Given the description of an element on the screen output the (x, y) to click on. 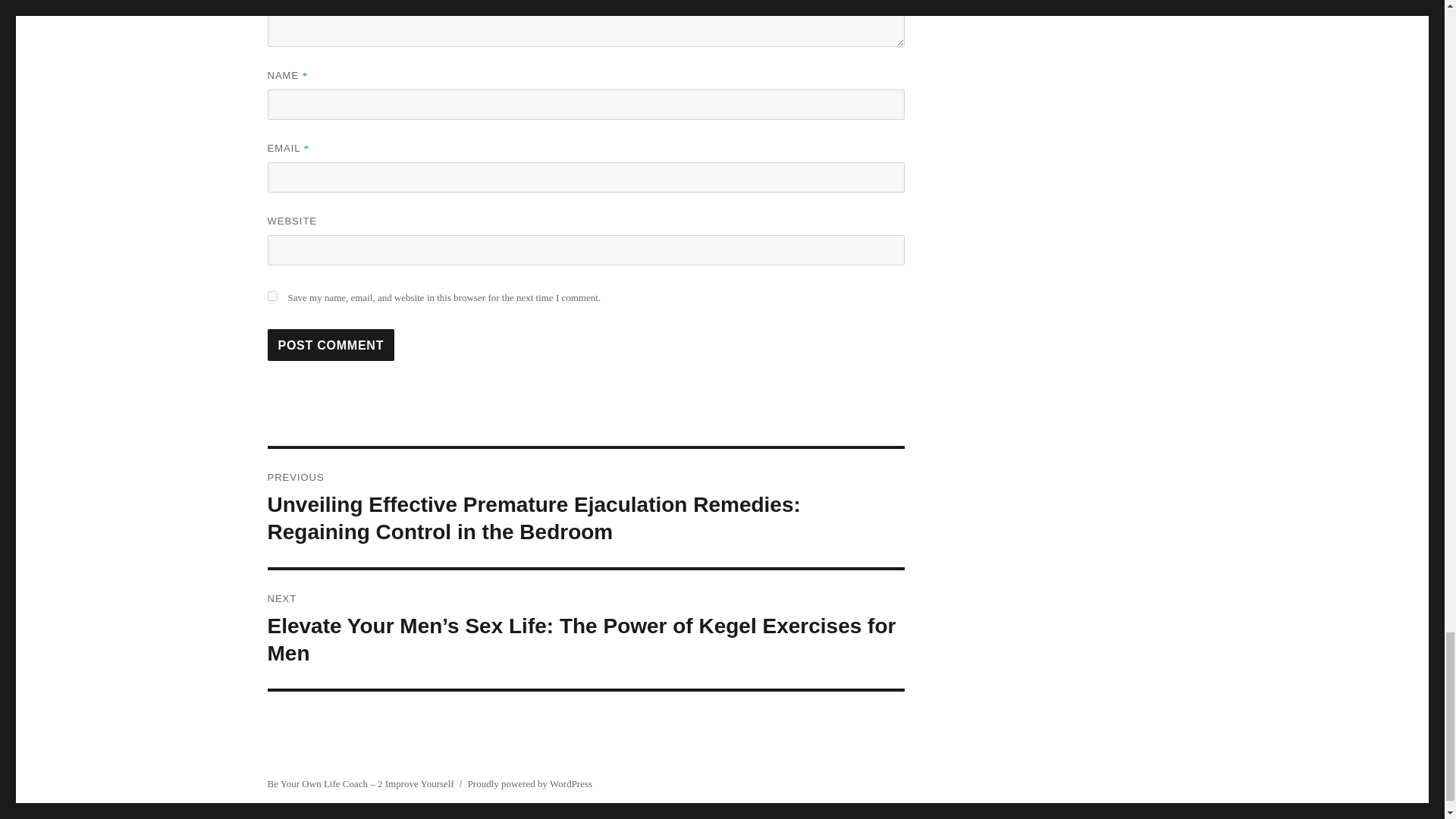
Post Comment (330, 345)
yes (271, 296)
Post Comment (330, 345)
